Given the description of an element on the screen output the (x, y) to click on. 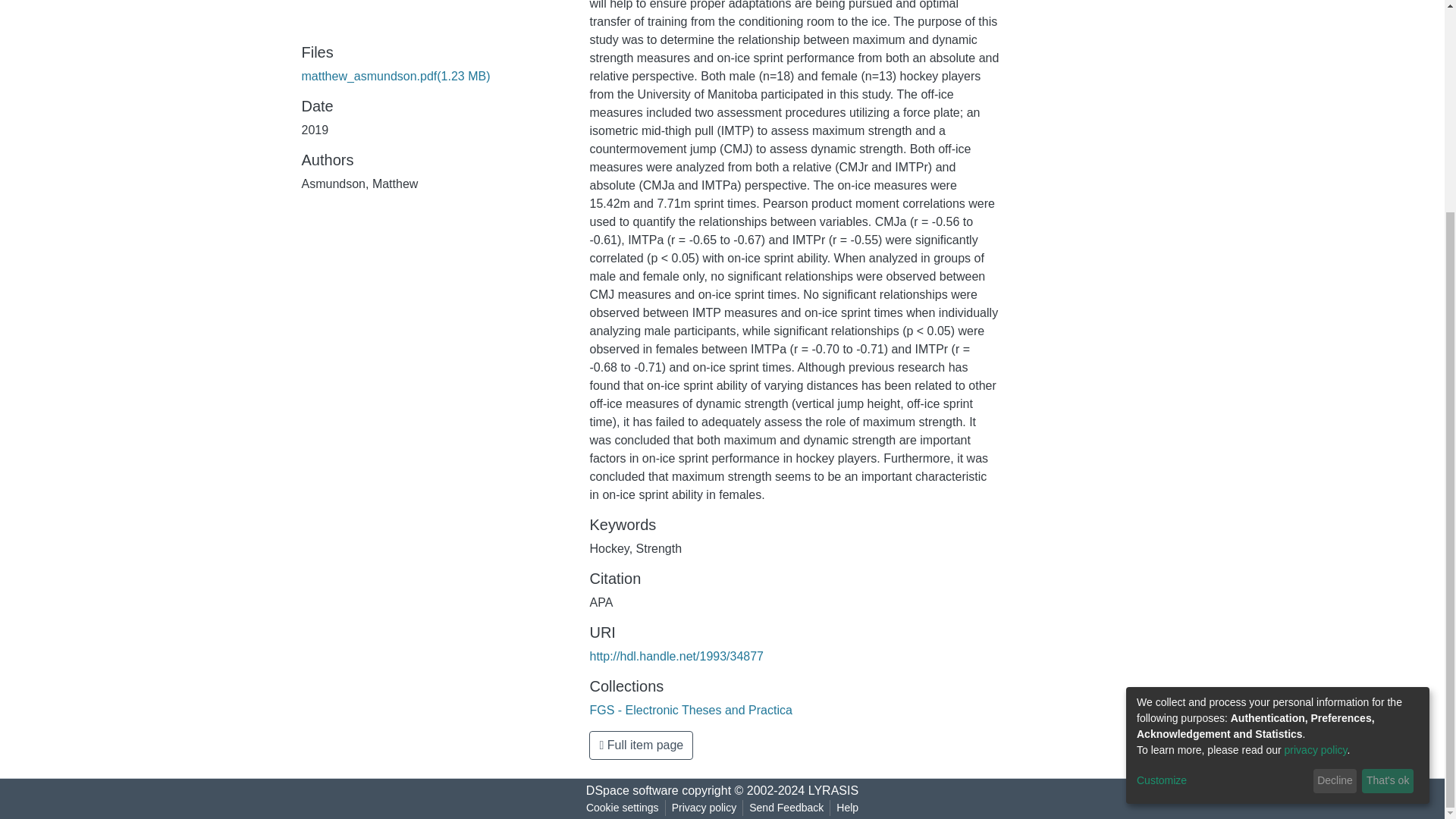
FGS - Electronic Theses and Practica (690, 709)
privacy policy (1316, 473)
Send Feedback (785, 807)
Privacy policy (703, 807)
Customize (1222, 504)
Full item page (641, 745)
Help (846, 807)
LYRASIS (833, 789)
DSpace software (632, 789)
Cookie settings (622, 807)
Decline (1334, 504)
That's ok (1387, 504)
